Given the description of an element on the screen output the (x, y) to click on. 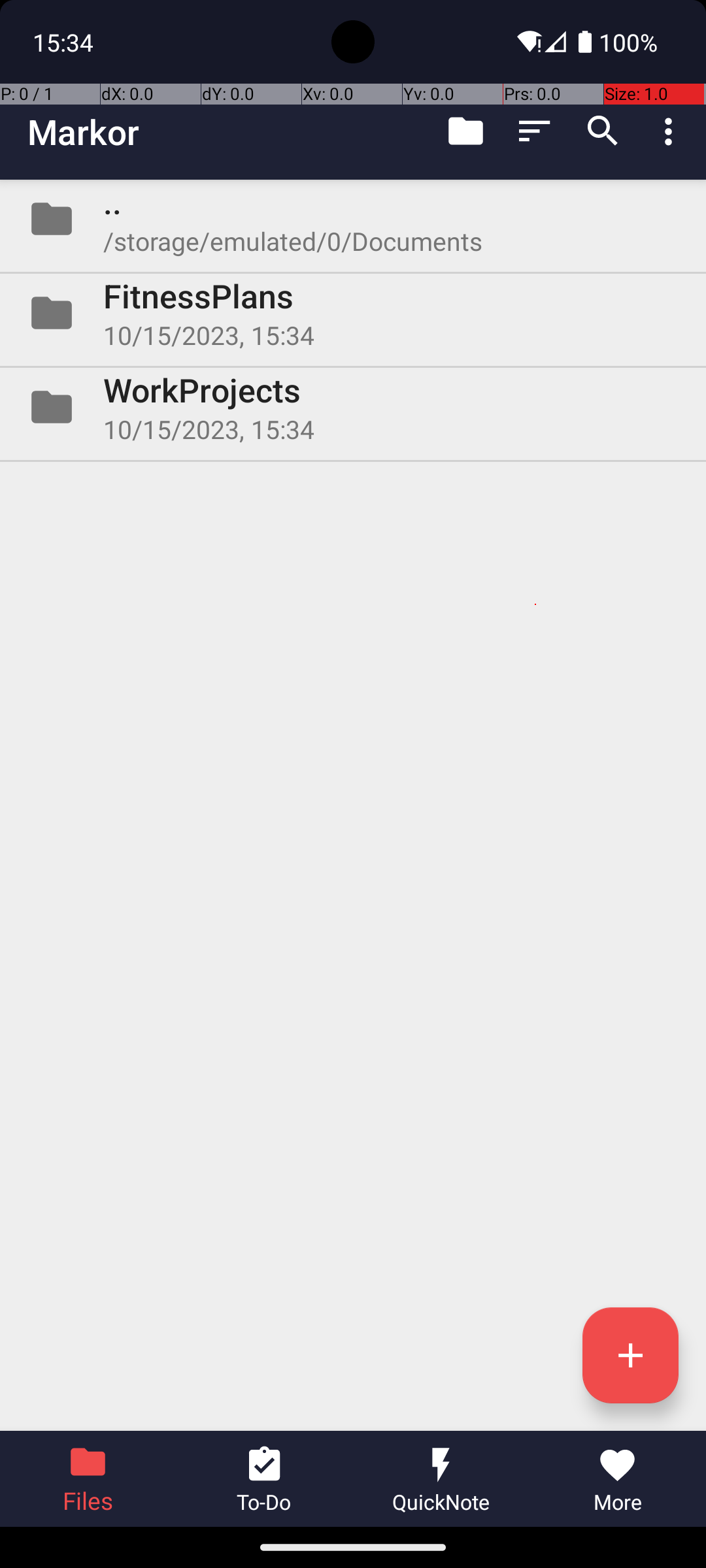
Folder FitnessPlans  Element type: android.widget.LinearLayout (353, 312)
Folder WorkProjects  Element type: android.widget.LinearLayout (353, 406)
